Given the description of an element on the screen output the (x, y) to click on. 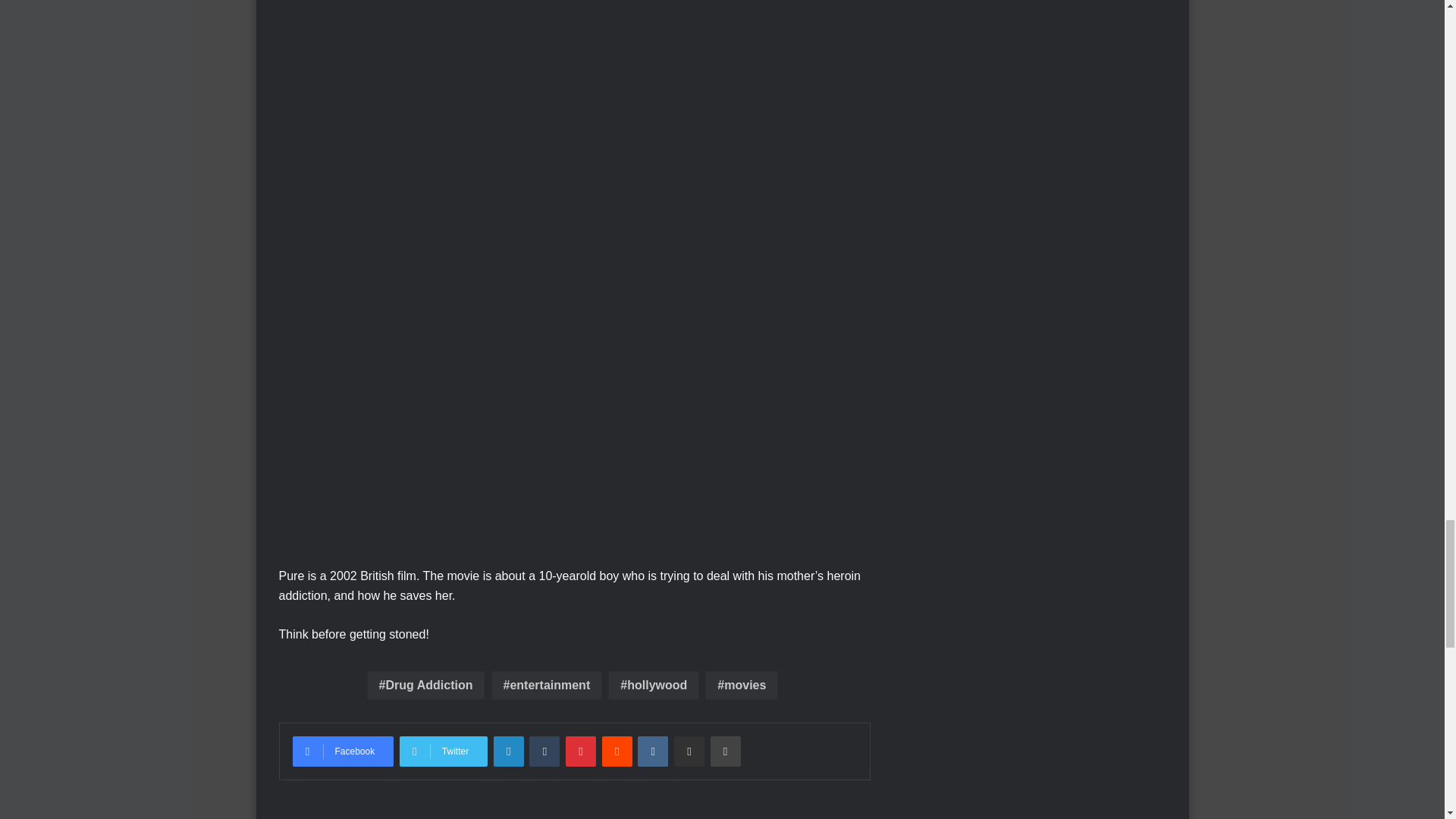
Share via Email (689, 751)
LinkedIn (508, 751)
Facebook (343, 751)
Drug Addiction (425, 685)
Facebook (343, 751)
Print (725, 751)
movies (740, 685)
entertainment (547, 685)
Tumblr (544, 751)
Twitter (442, 751)
